Given the description of an element on the screen output the (x, y) to click on. 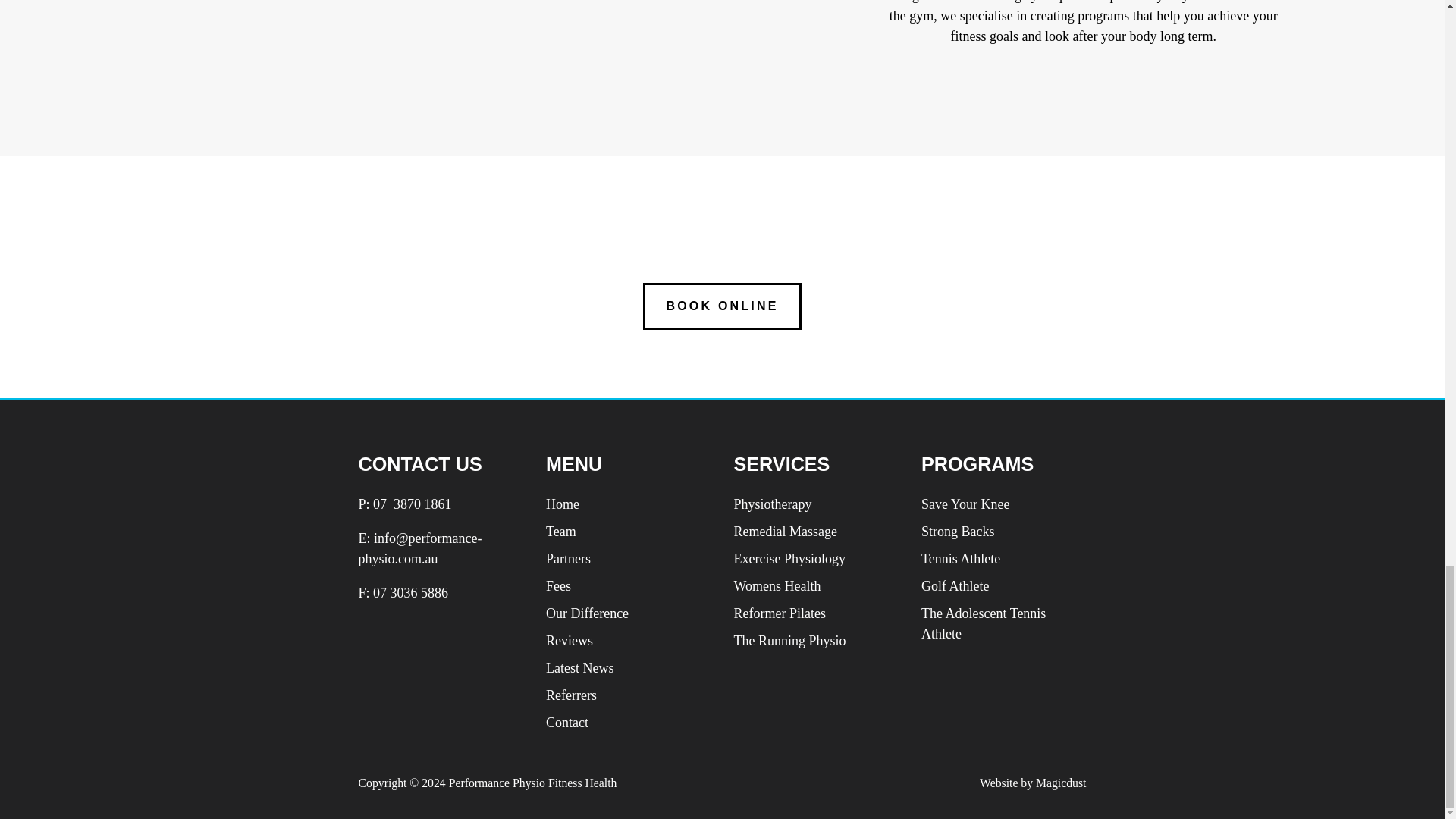
Team (561, 531)
Home (562, 503)
Partners (568, 558)
P: 07  3870 1861 (404, 503)
BOOK ONLINE (721, 306)
